Given the description of an element on the screen output the (x, y) to click on. 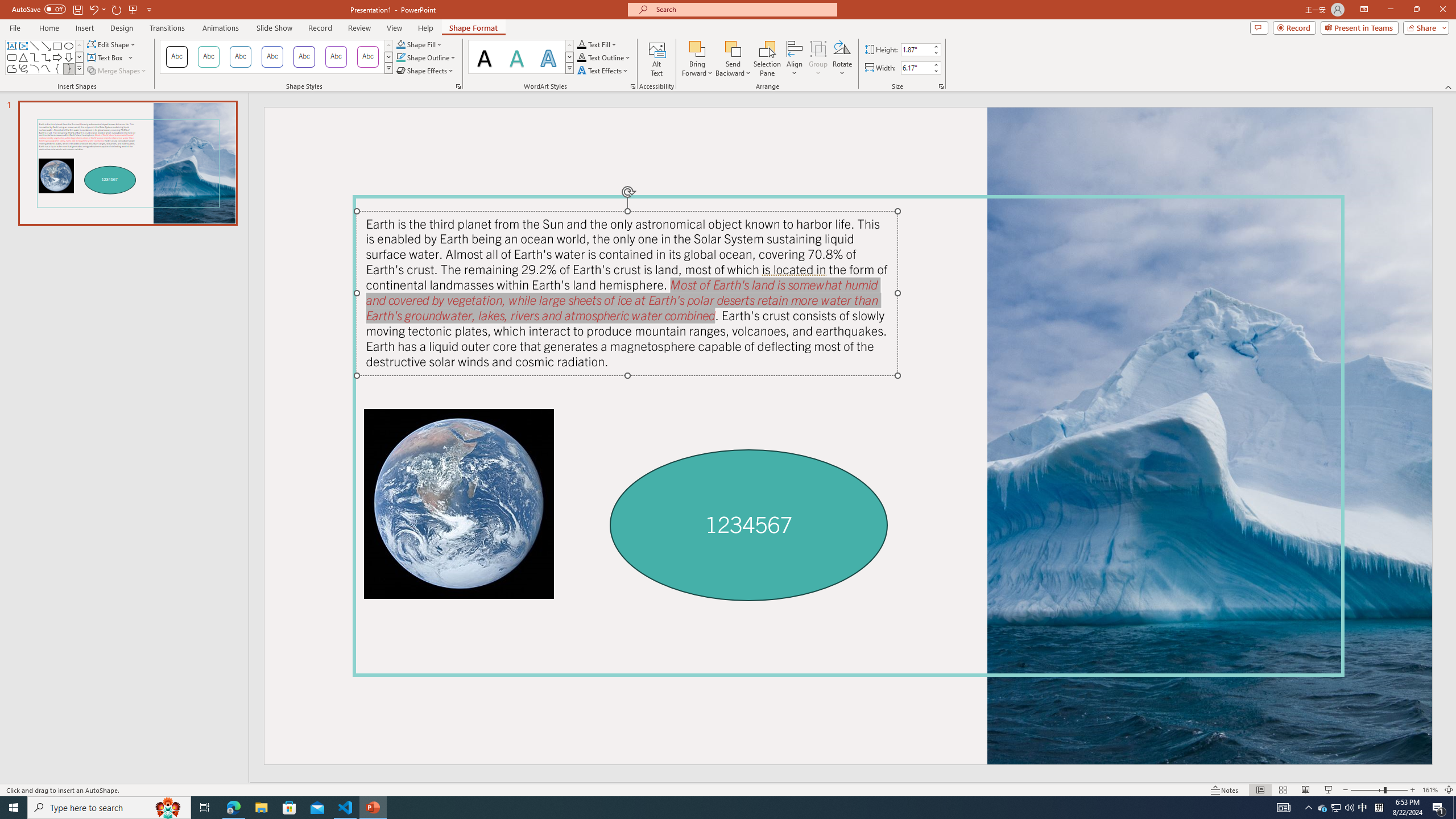
Animations (220, 28)
Bring Forward (697, 48)
Shape Outline Teal, Accent 1 (400, 56)
Selection Pane... (767, 58)
More Options (733, 68)
Merge Shapes (117, 69)
Rectangle (57, 45)
From Beginning (133, 9)
